Given the description of an element on the screen output the (x, y) to click on. 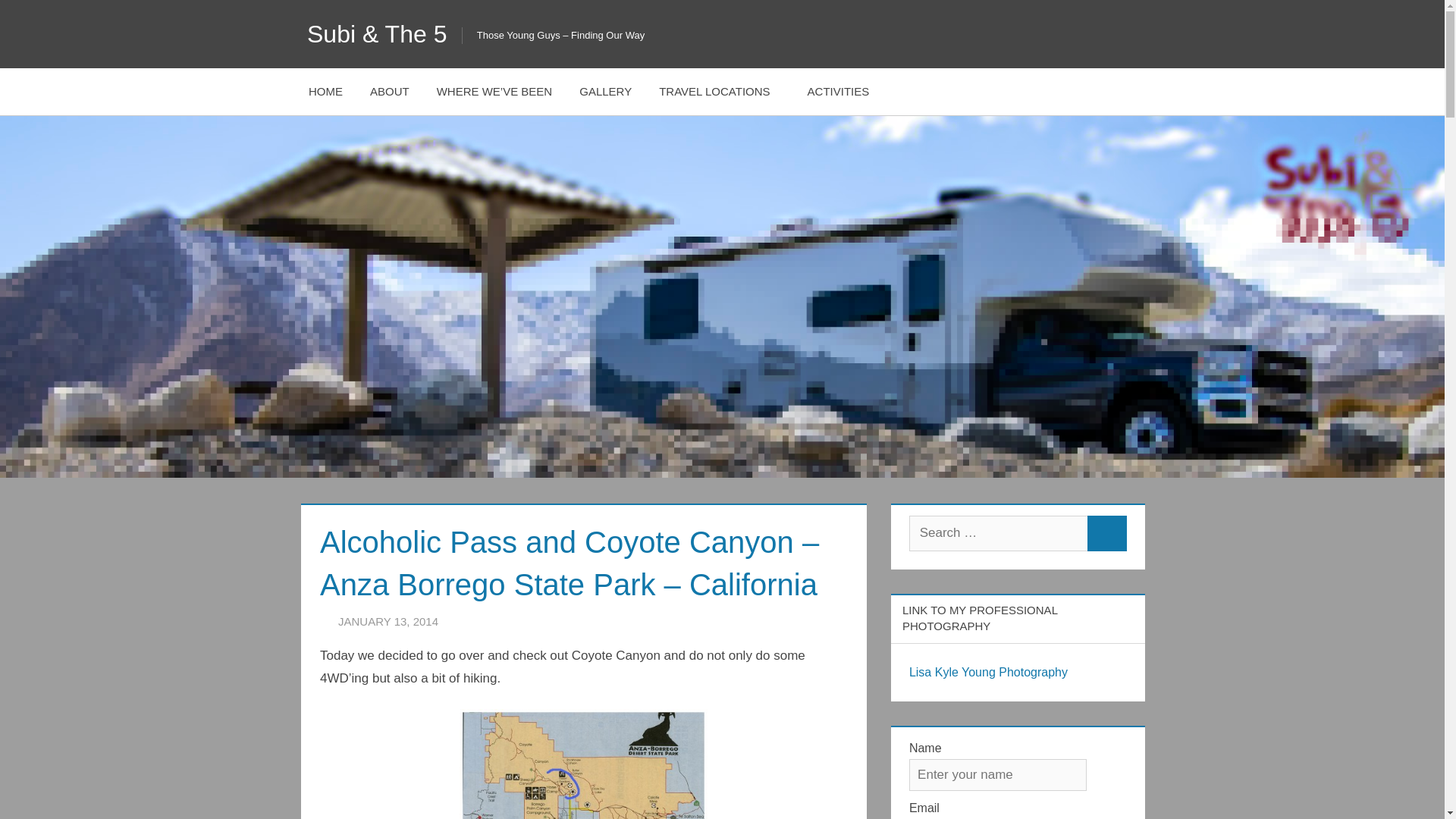
TRAVEL LOCATIONS (719, 91)
15:41 (387, 620)
HOME (325, 91)
GALLERY (605, 91)
View all posts by lisa (486, 620)
ABOUT (389, 91)
